Given the description of an element on the screen output the (x, y) to click on. 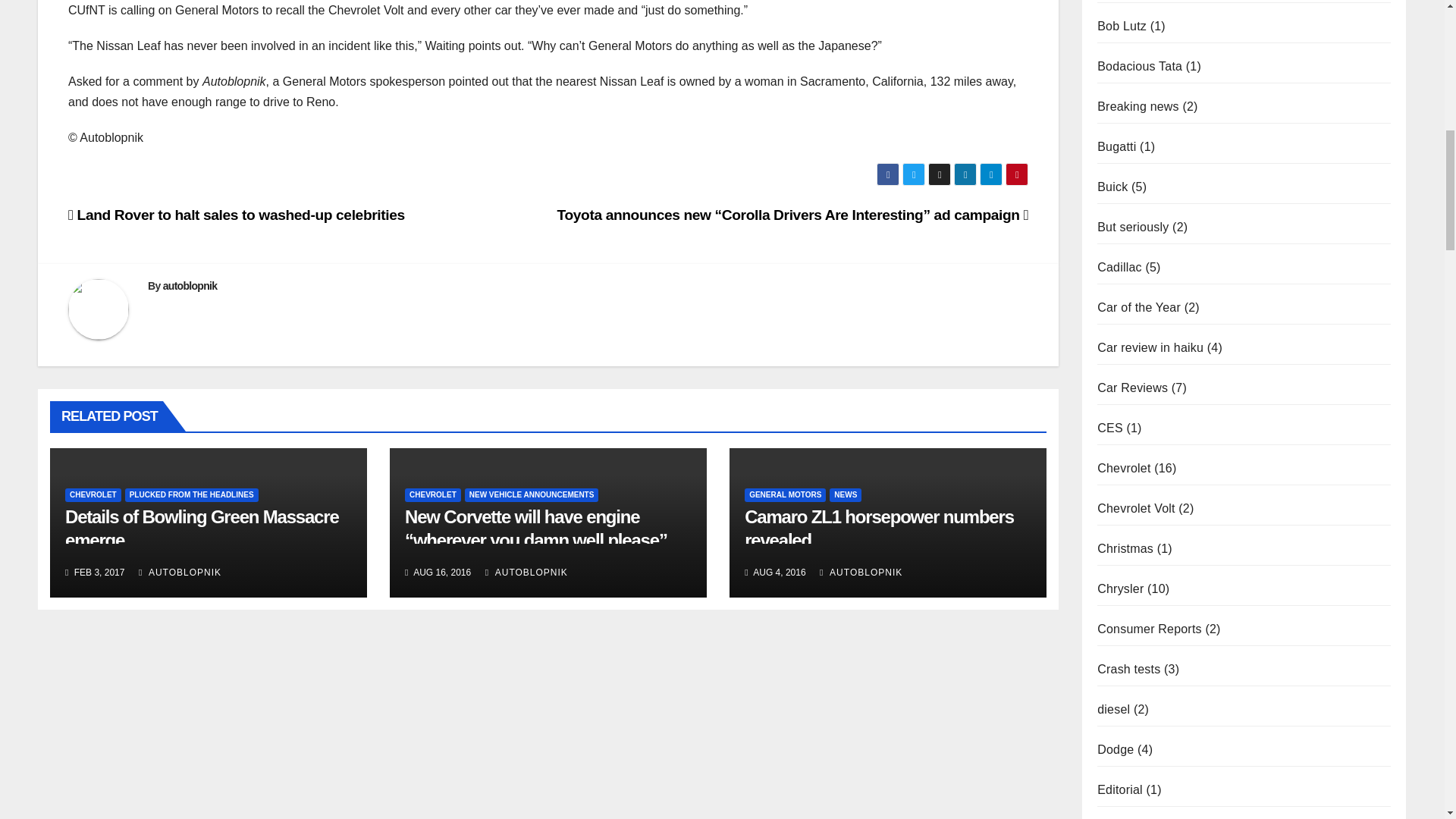
Permalink to: Details of Bowling Green Massacre emerge (202, 528)
Permalink to: Camaro ZL1 horsepower numbers revealed (878, 528)
